Given the description of an element on the screen output the (x, y) to click on. 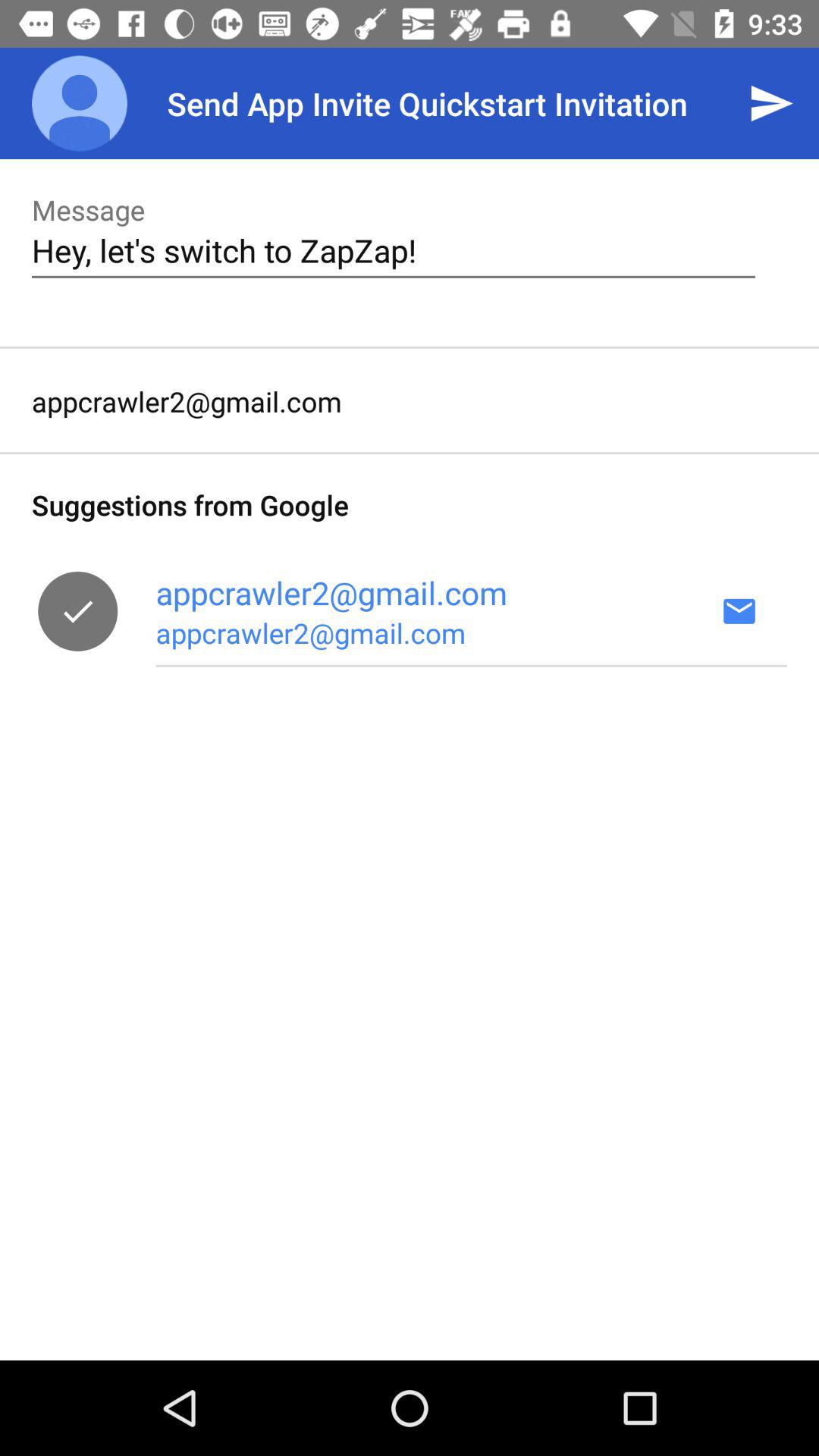
click item above the message icon (79, 103)
